Given the description of an element on the screen output the (x, y) to click on. 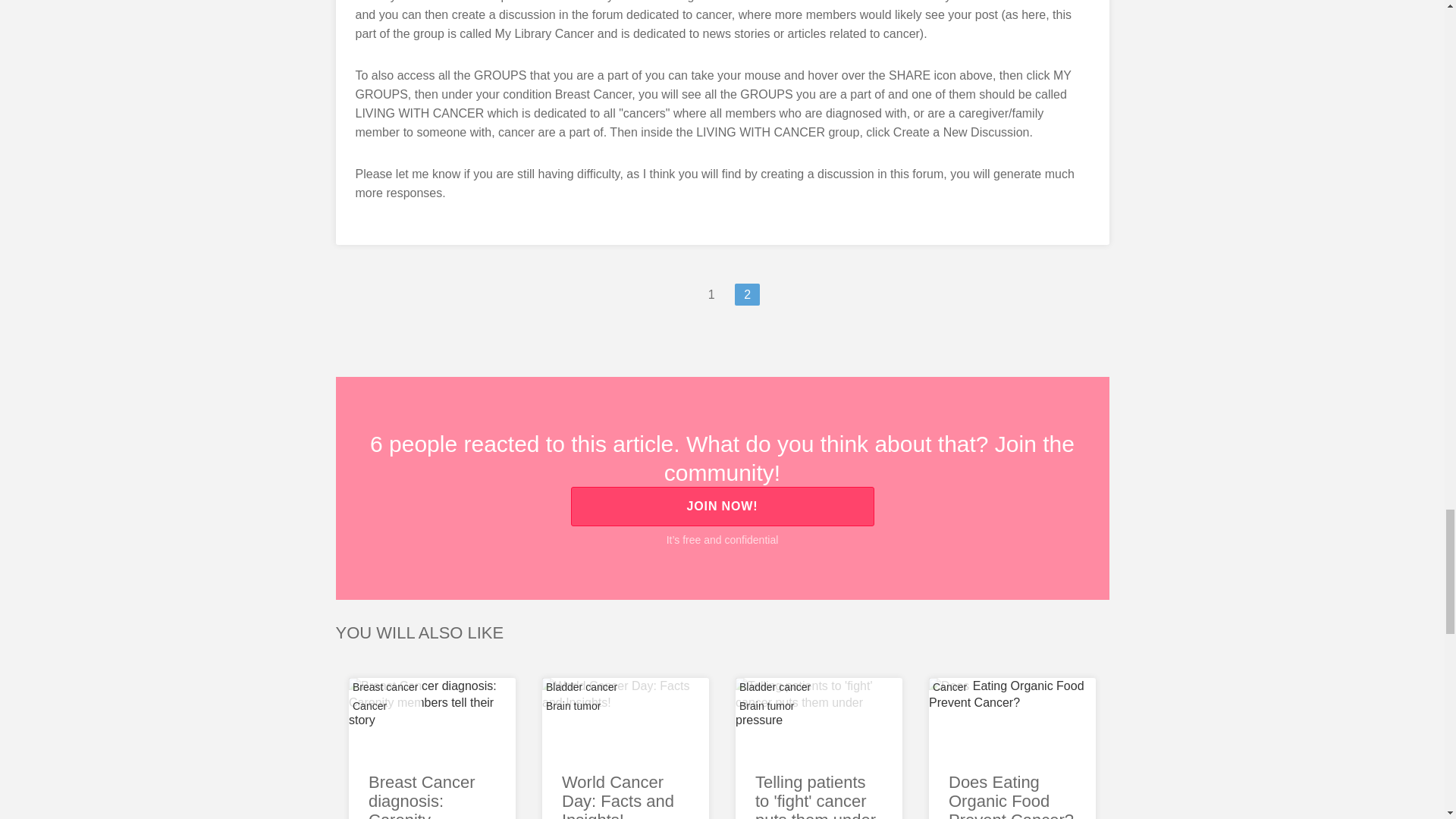
1 (710, 294)
2 (747, 294)
